Given the description of an element on the screen output the (x, y) to click on. 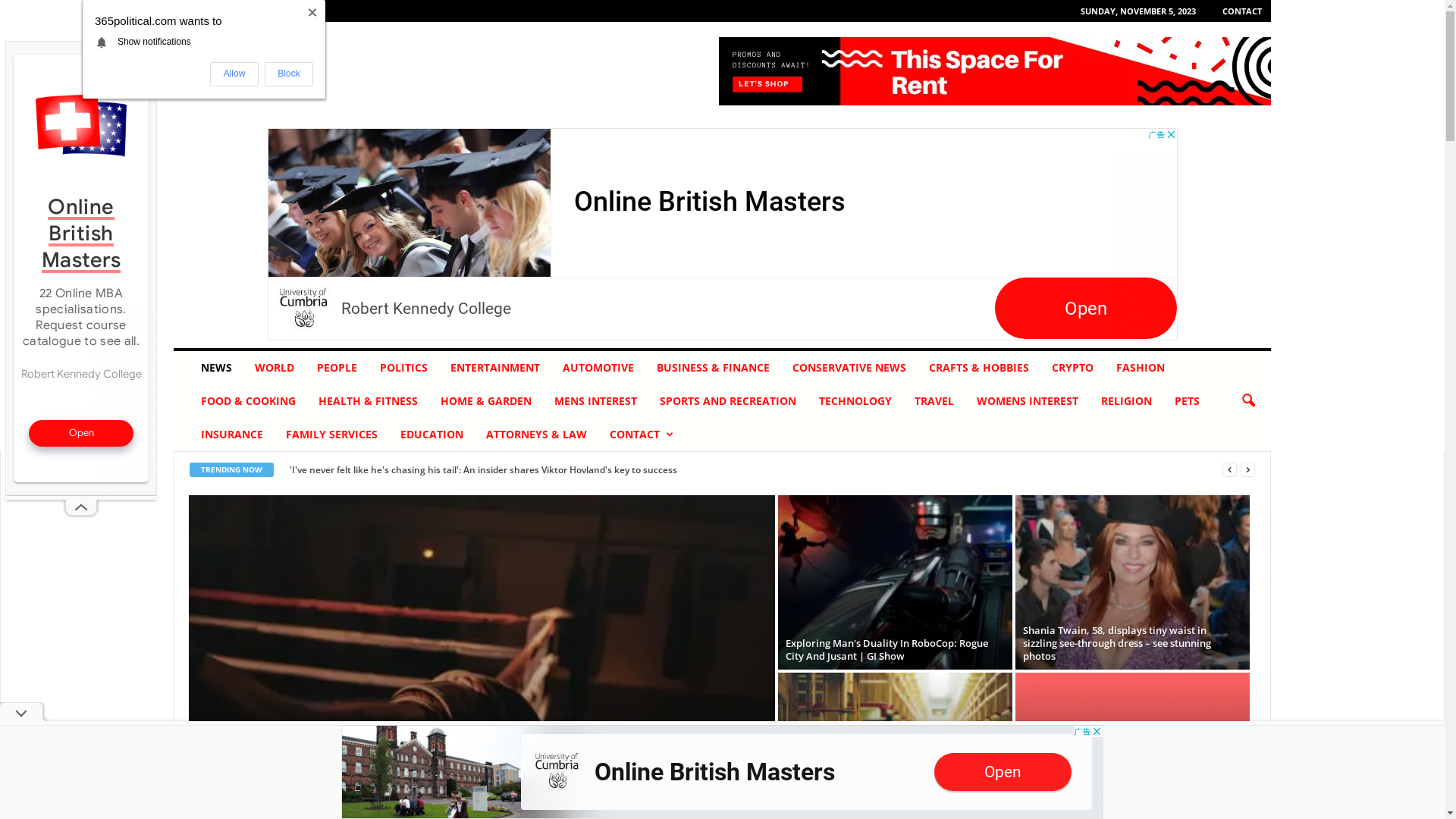
SPORTS AND RECREATION Element type: text (727, 400)
PEOPLE Element type: text (336, 367)
365 Political News Element type: text (276, 71)
RELIGION Element type: text (1126, 400)
INSURANCE Element type: text (231, 434)
Advertisement Element type: hover (721, 234)
Advertisement Element type: hover (80, 267)
HOME & GARDEN Element type: text (485, 400)
POLITICS Element type: text (403, 367)
CONTACT Element type: text (1241, 10)
HEALTH & FITNESS Element type: text (368, 400)
NEWS Element type: text (216, 367)
ENTERTAINMENT Element type: text (495, 367)
PETS Element type: text (1187, 400)
WORLD Element type: text (274, 367)
WOMENS INTEREST Element type: text (1027, 400)
AUTOMOTIVE Element type: text (598, 367)
CONTACT Element type: text (640, 434)
CRAFTS & HOBBIES Element type: text (978, 367)
TECHNOLOGY Element type: text (855, 400)
CONSERVATIVE NEWS Element type: text (849, 367)
EDUCATION Element type: text (431, 434)
FASHION Element type: text (1140, 367)
BUSINESS & FINANCE Element type: text (713, 367)
TRAVEL Element type: text (934, 400)
FAMILY SERVICES Element type: text (331, 434)
ATTORNEYS & LAW Element type: text (536, 434)
MENS INTEREST Element type: text (595, 400)
FOOD & COOKING Element type: text (248, 400)
CRYPTO Element type: text (1072, 367)
